Given the description of an element on the screen output the (x, y) to click on. 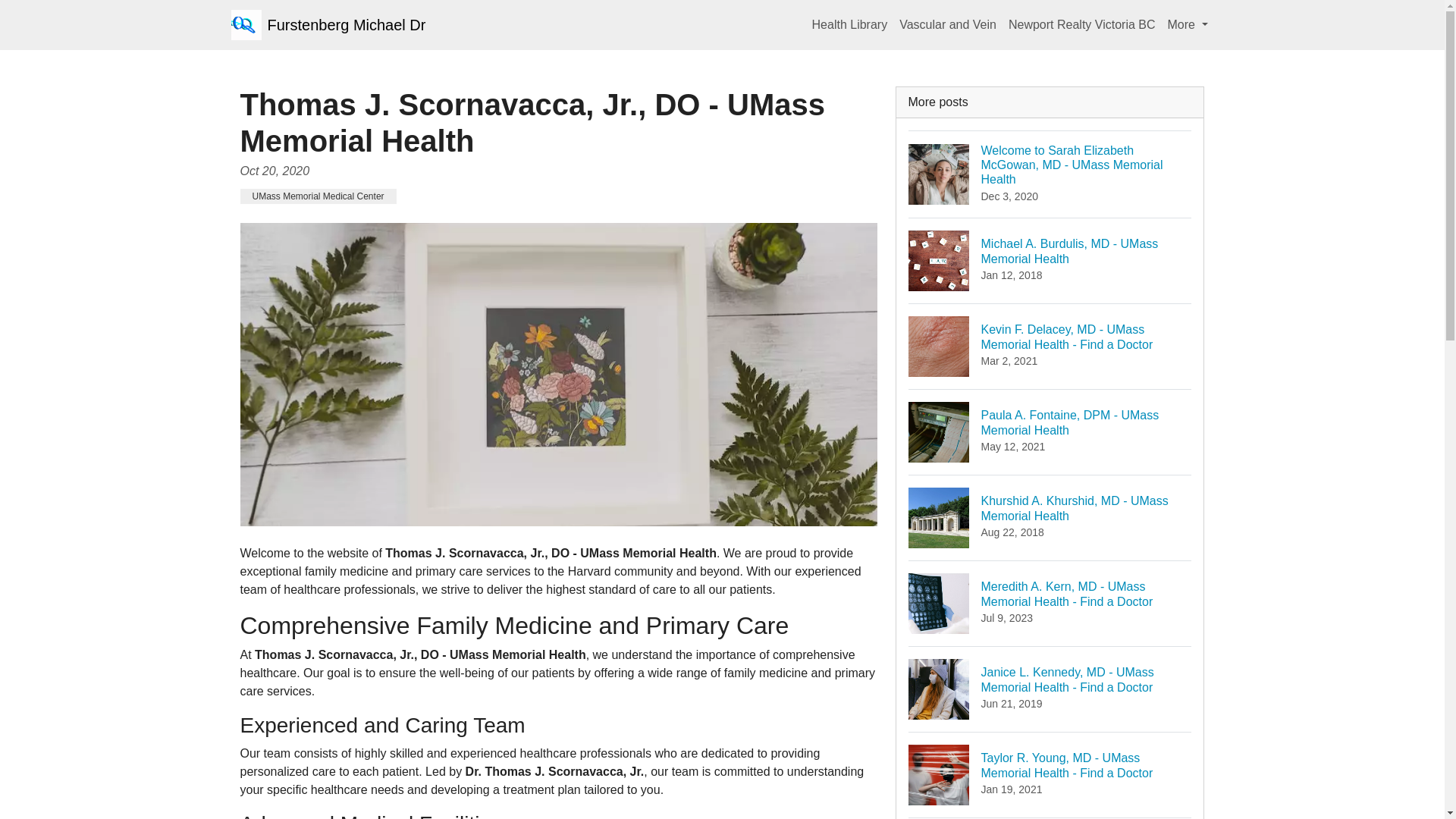
More (1050, 260)
Furstenberg Michael Dr (1187, 24)
Vascular and Vein (327, 24)
UMass Memorial Medical Center (948, 24)
Health Library (318, 196)
Newport Realty Victoria BC (1050, 432)
